Given the description of an element on the screen output the (x, y) to click on. 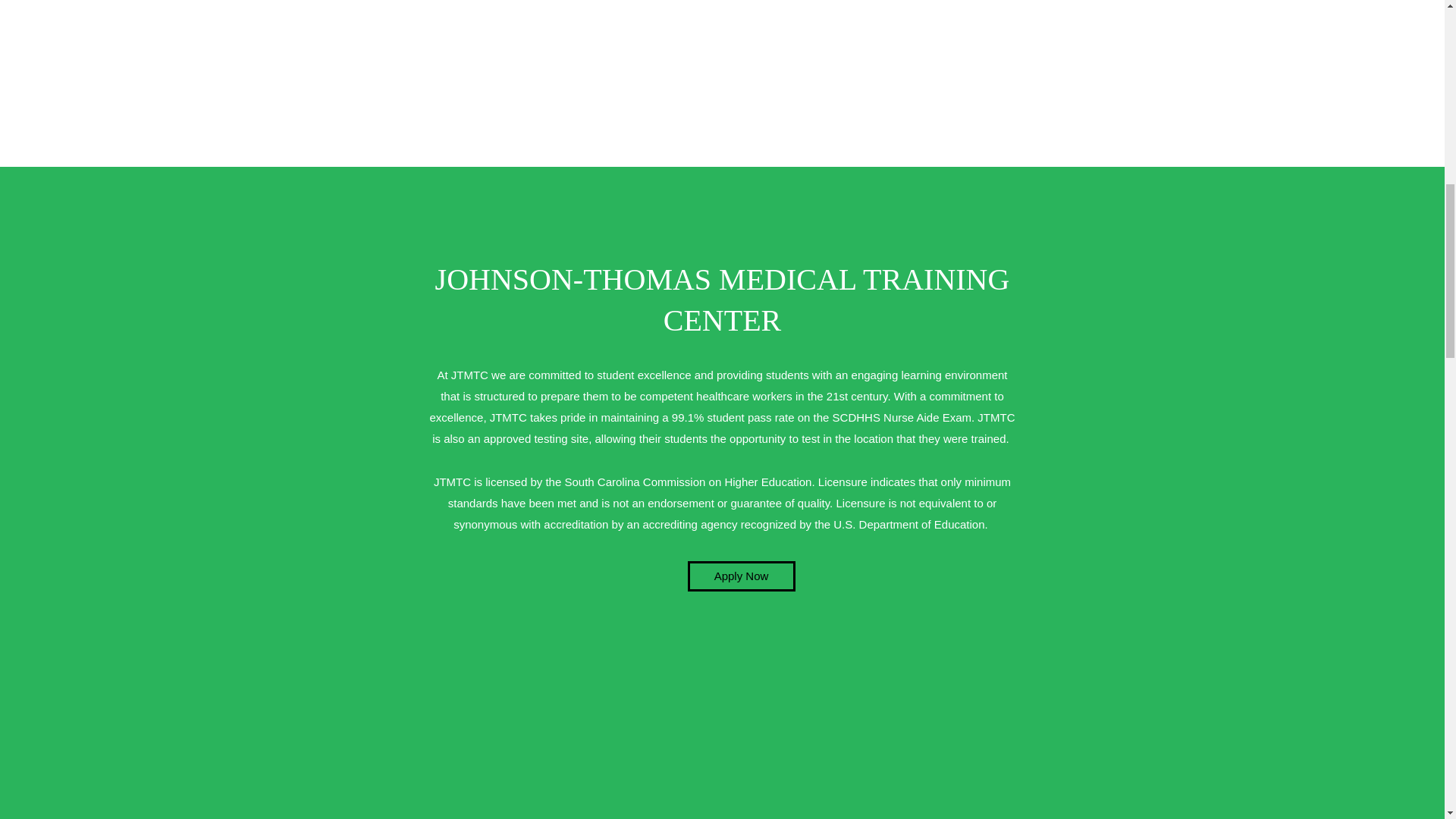
Apply Now (740, 576)
